Given the description of an element on the screen output the (x, y) to click on. 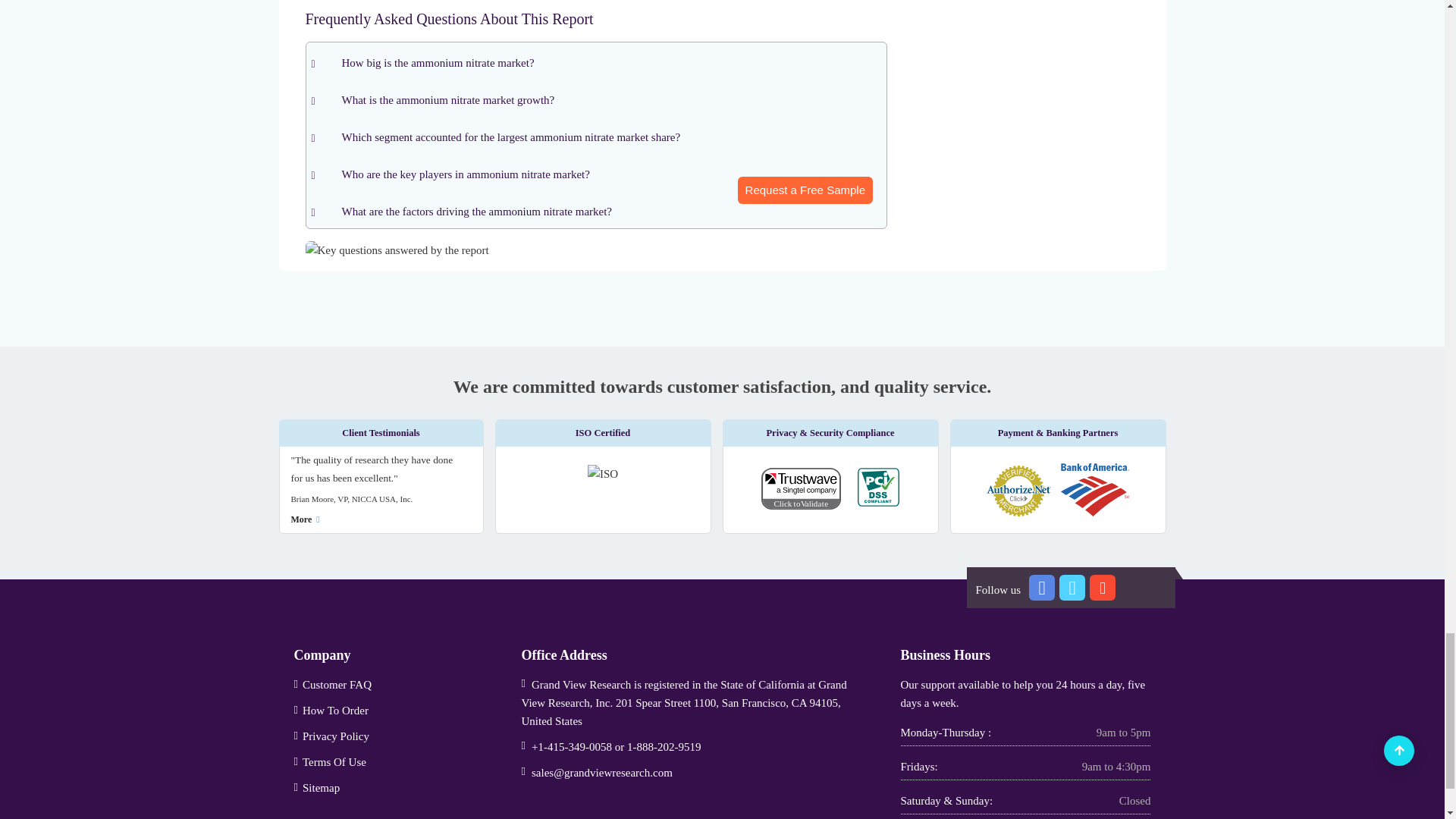
Click to Validate (808, 491)
